Given the description of an element on the screen output the (x, y) to click on. 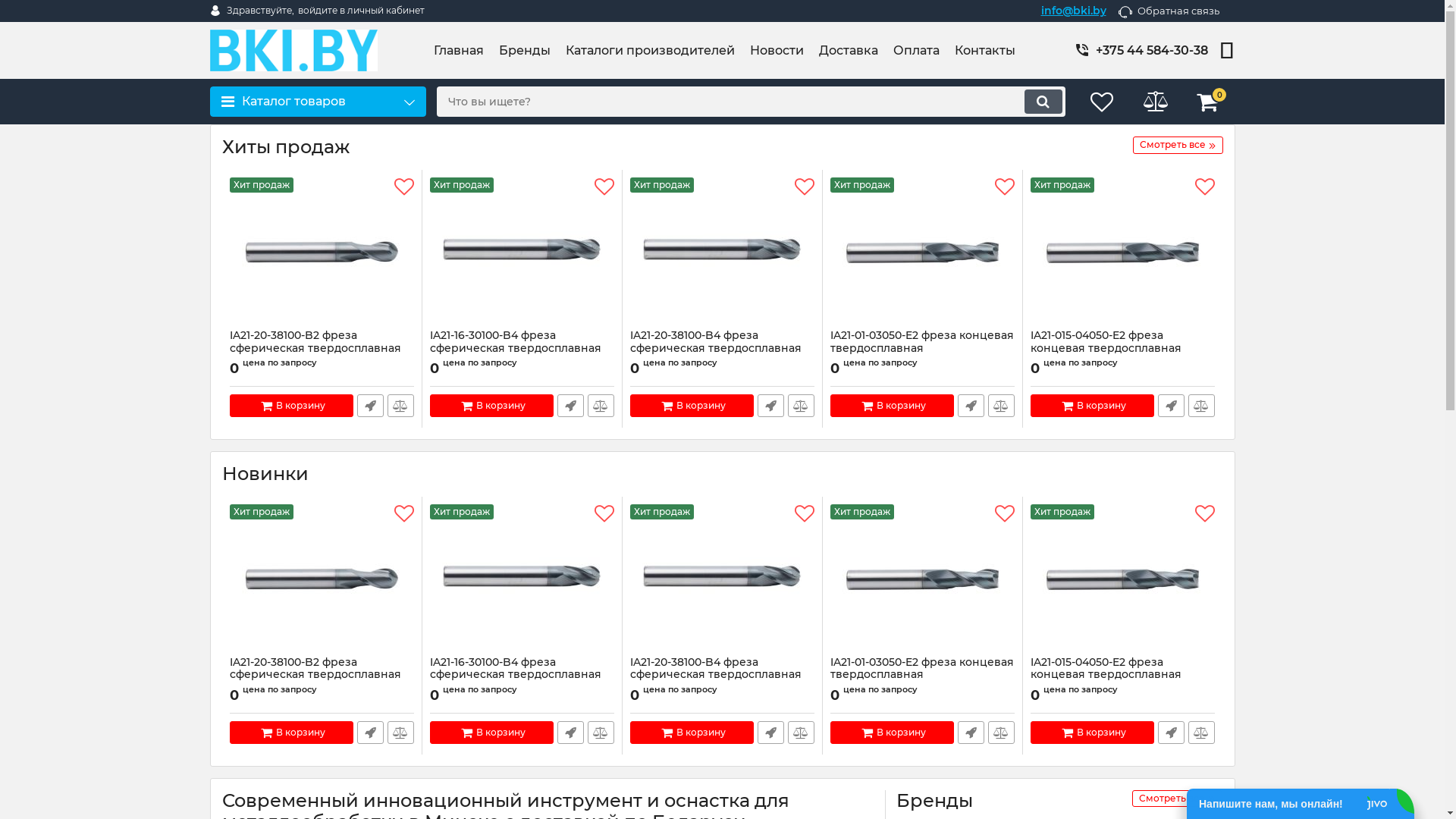
info@bki.by Element type: text (1072, 10)
+375 44 584-30-38 Element type: text (1149, 49)
